Given the description of an element on the screen output the (x, y) to click on. 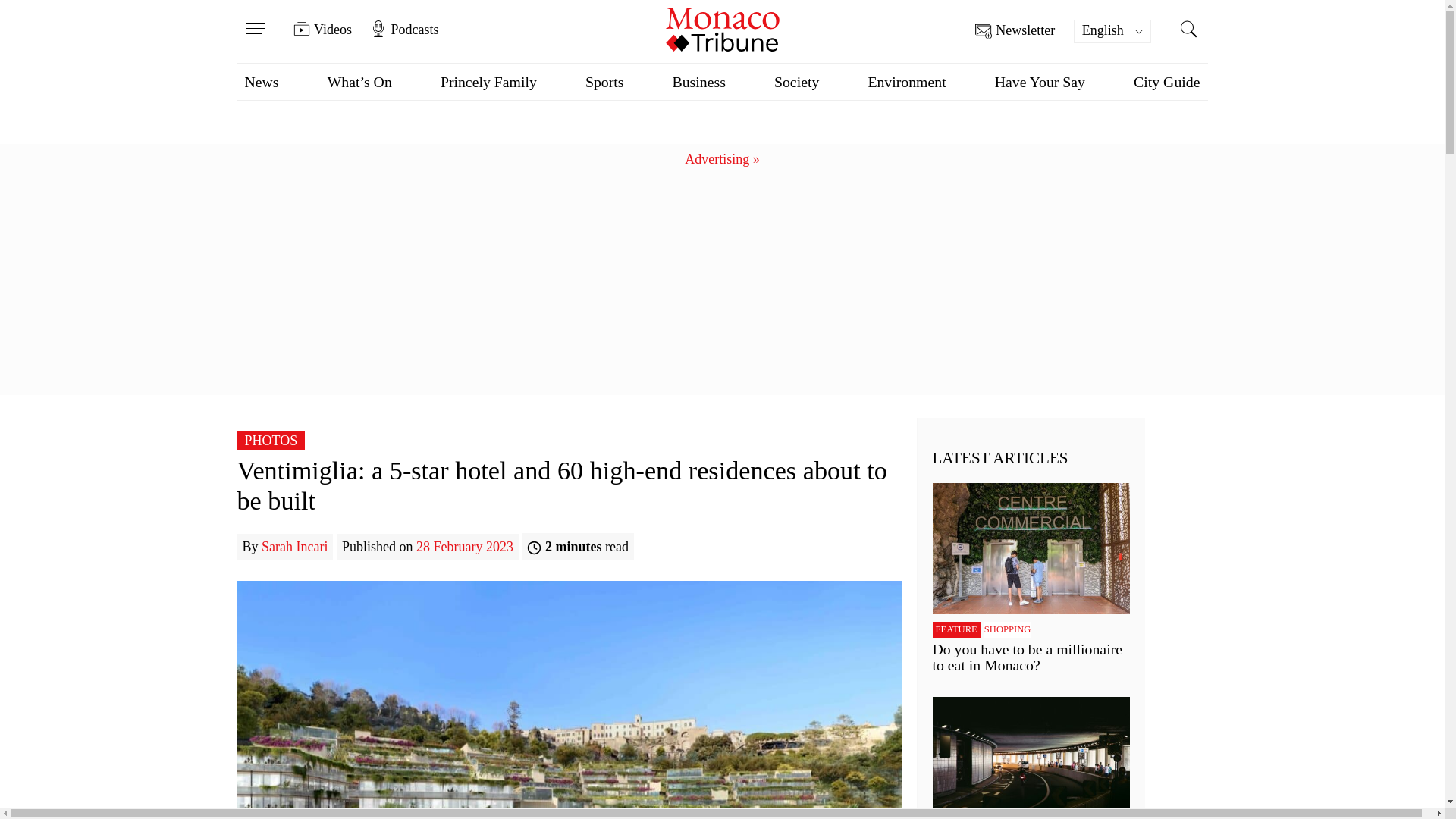
Podcasts (403, 28)
Videos (323, 28)
Newsletter (1014, 31)
English (1112, 31)
